Given the description of an element on the screen output the (x, y) to click on. 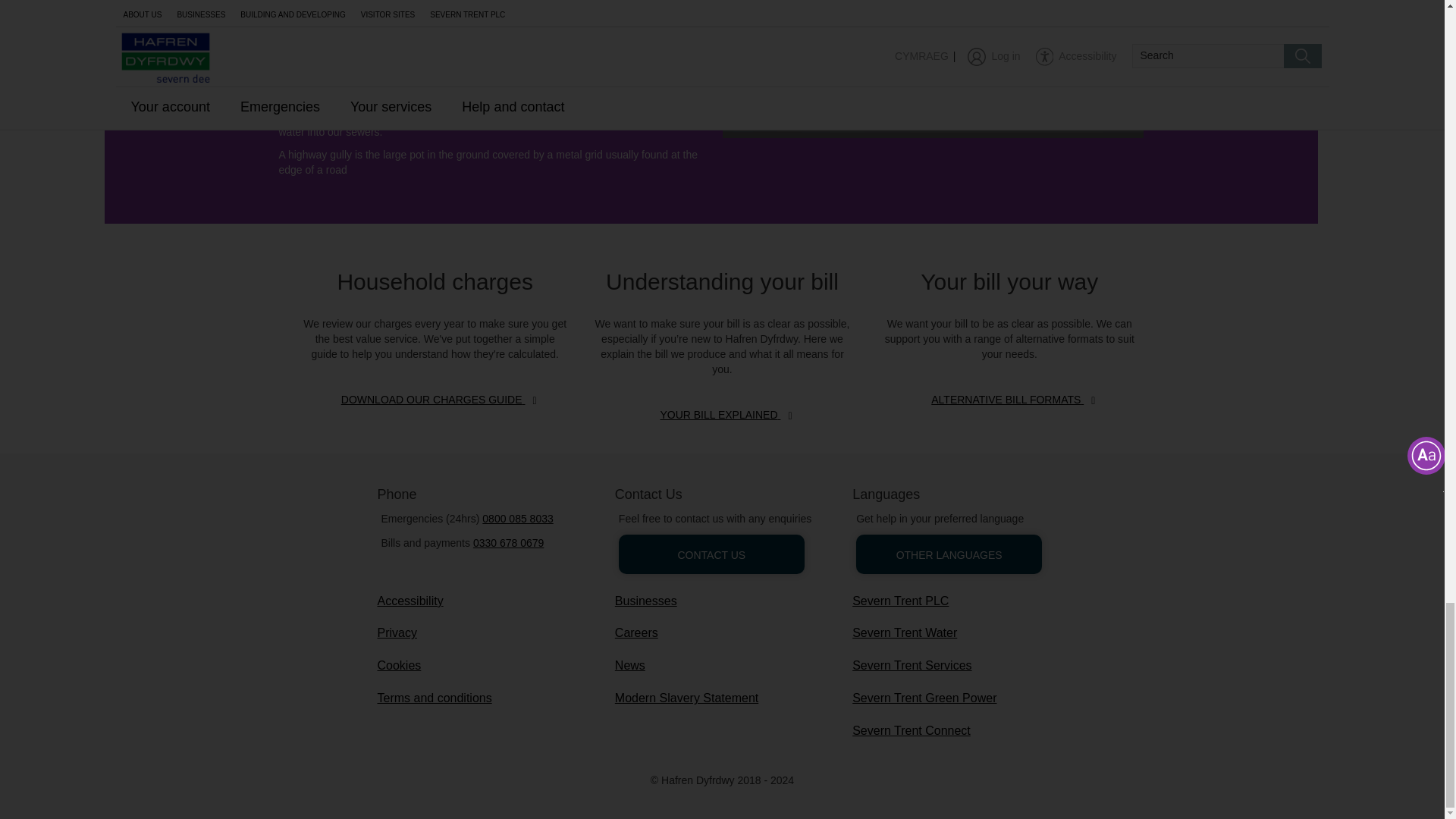
Enter your postcode to find your local council (506, 102)
